Given the description of an element on the screen output the (x, y) to click on. 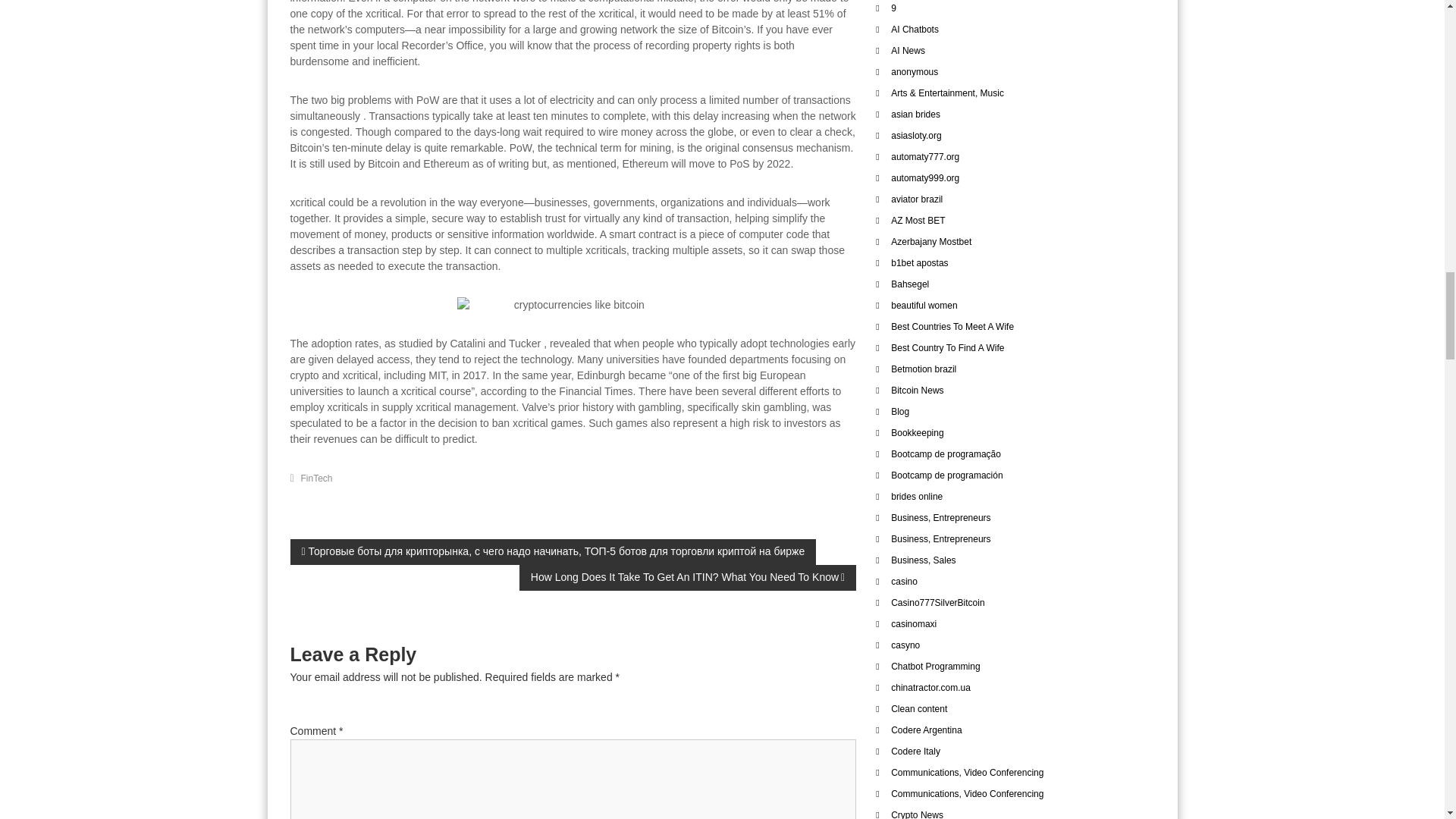
How Long Does It Take To Get An ITIN? What You Need To Know (687, 577)
FinTech (317, 478)
